Given the description of an element on the screen output the (x, y) to click on. 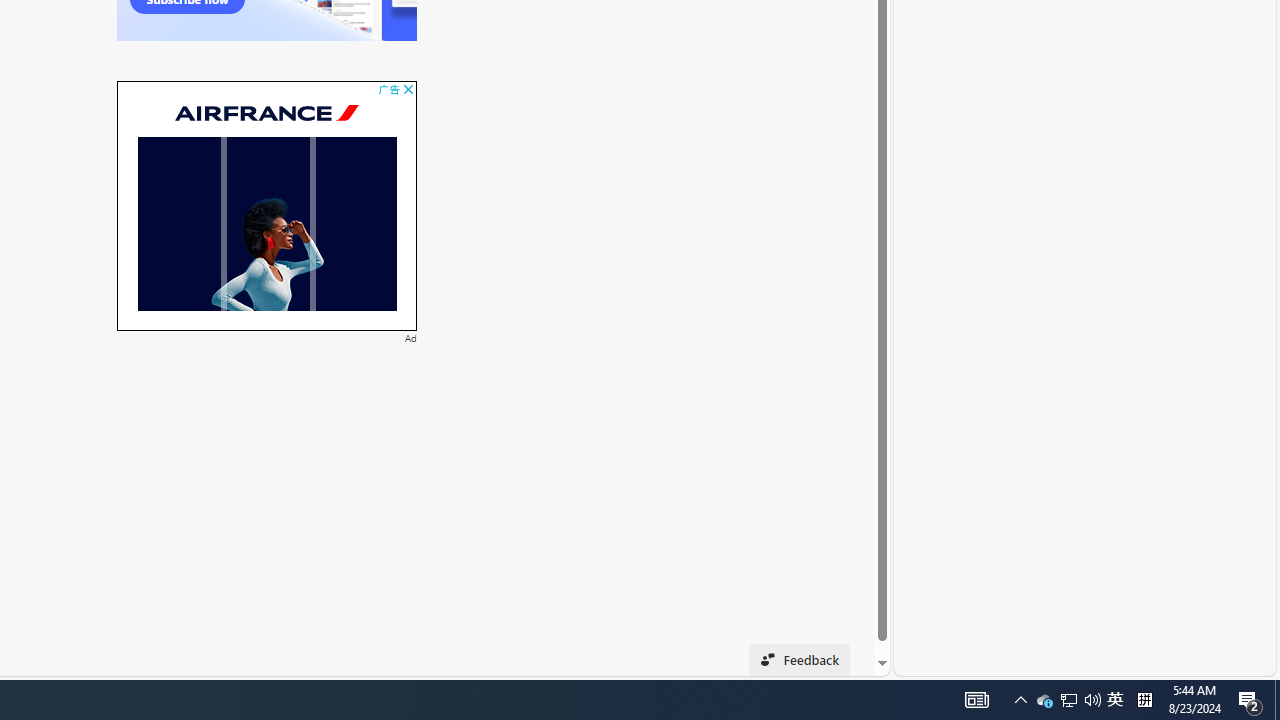
AutomationID: cbb (408, 89)
